Given the description of an element on the screen output the (x, y) to click on. 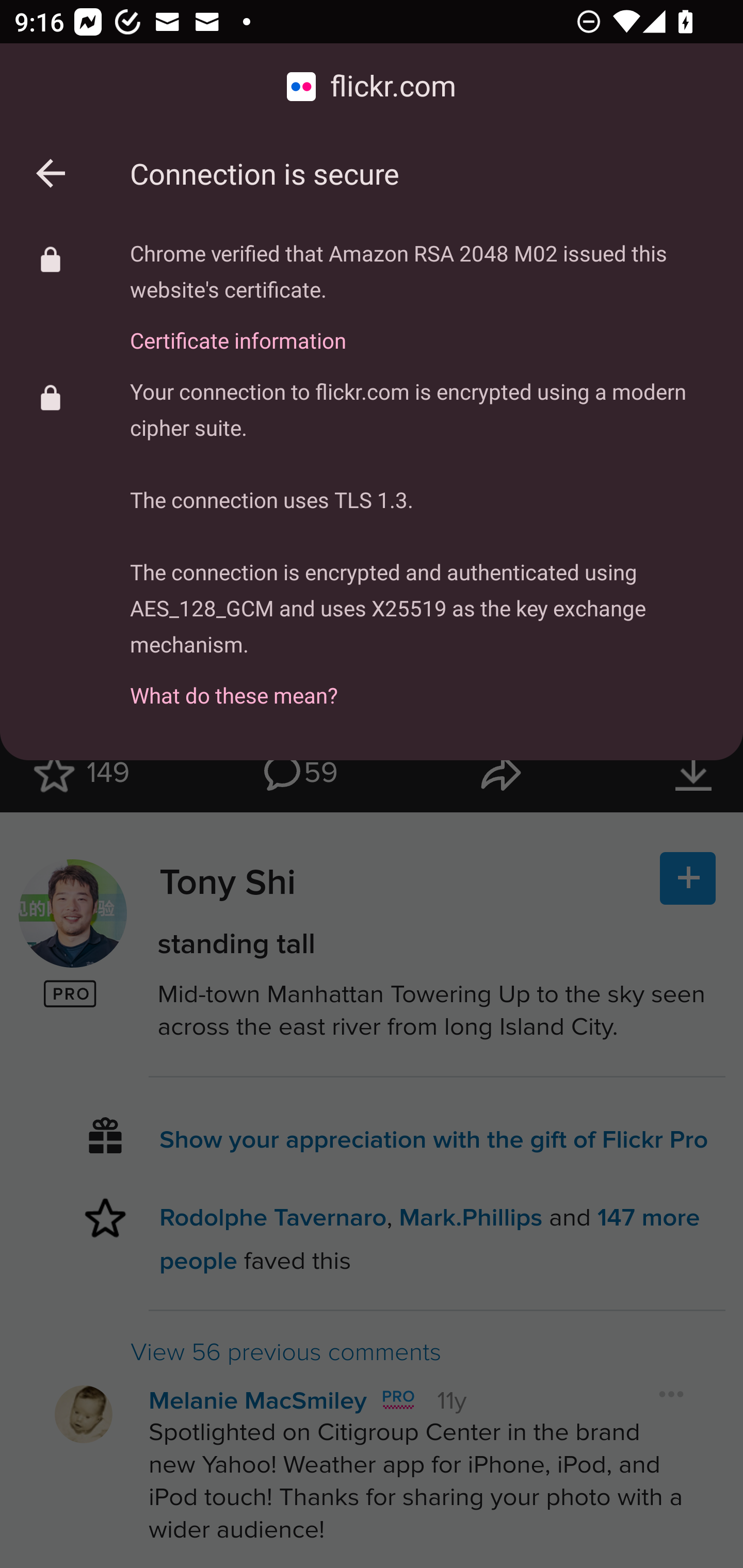
flickr.com (371, 86)
Back (50, 173)
Certificate information (422, 329)
What do these mean? (422, 684)
